Given the description of an element on the screen output the (x, y) to click on. 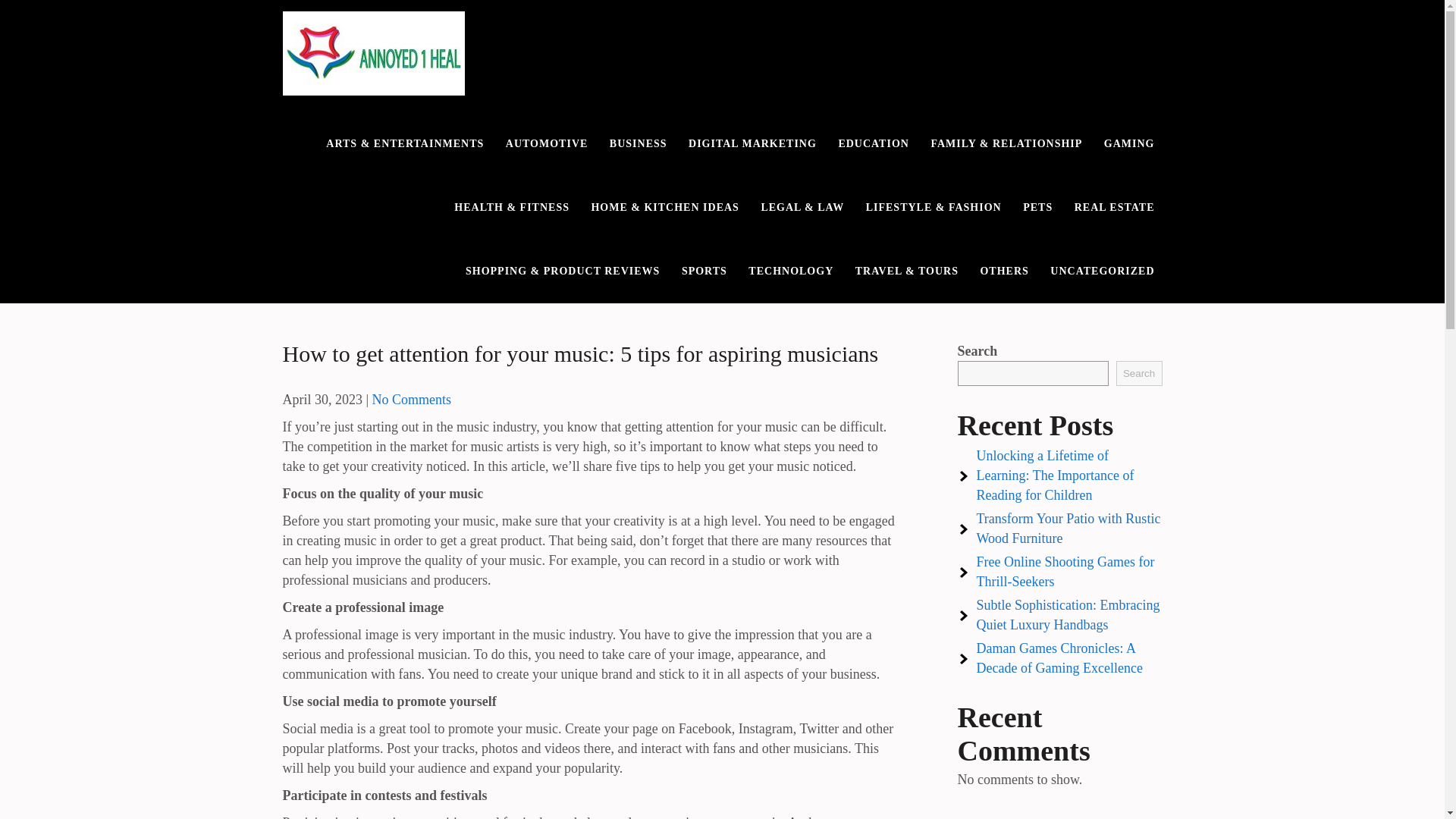
OTHERS (1003, 271)
Subtle Sophistication: Embracing Quiet Luxury Handbags (1068, 614)
annoyed heal (358, 114)
Transform Your Patio with Rustic Wood Furniture (1068, 528)
AUTOMOTIVE (546, 144)
REAL ESTATE (1114, 207)
SPORTS (704, 271)
TECHNOLOGY (791, 271)
UNCATEGORIZED (1101, 271)
No Comments (411, 399)
Free Online Shooting Games for Thrill-Seekers (1065, 571)
EDUCATION (873, 144)
Daman Games Chronicles: A Decade of Gaming Excellence (1059, 657)
Search (1138, 373)
